Given the description of an element on the screen output the (x, y) to click on. 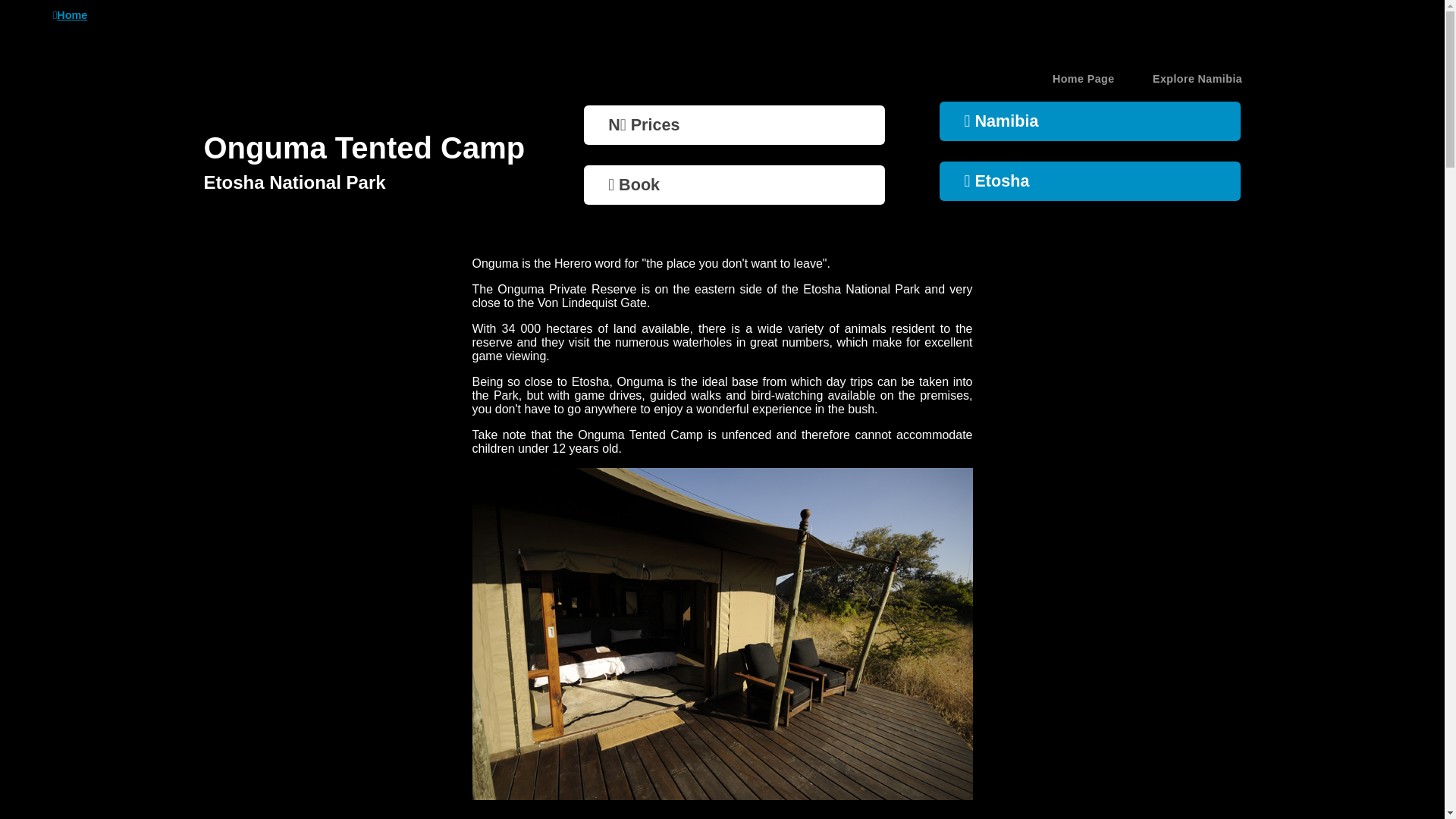
Namibia (1089, 120)
Home Page (1083, 78)
Explore Namibia (1197, 78)
Etosha (1089, 180)
N Prices (734, 124)
Book (734, 184)
Home (69, 15)
